Given the description of an element on the screen output the (x, y) to click on. 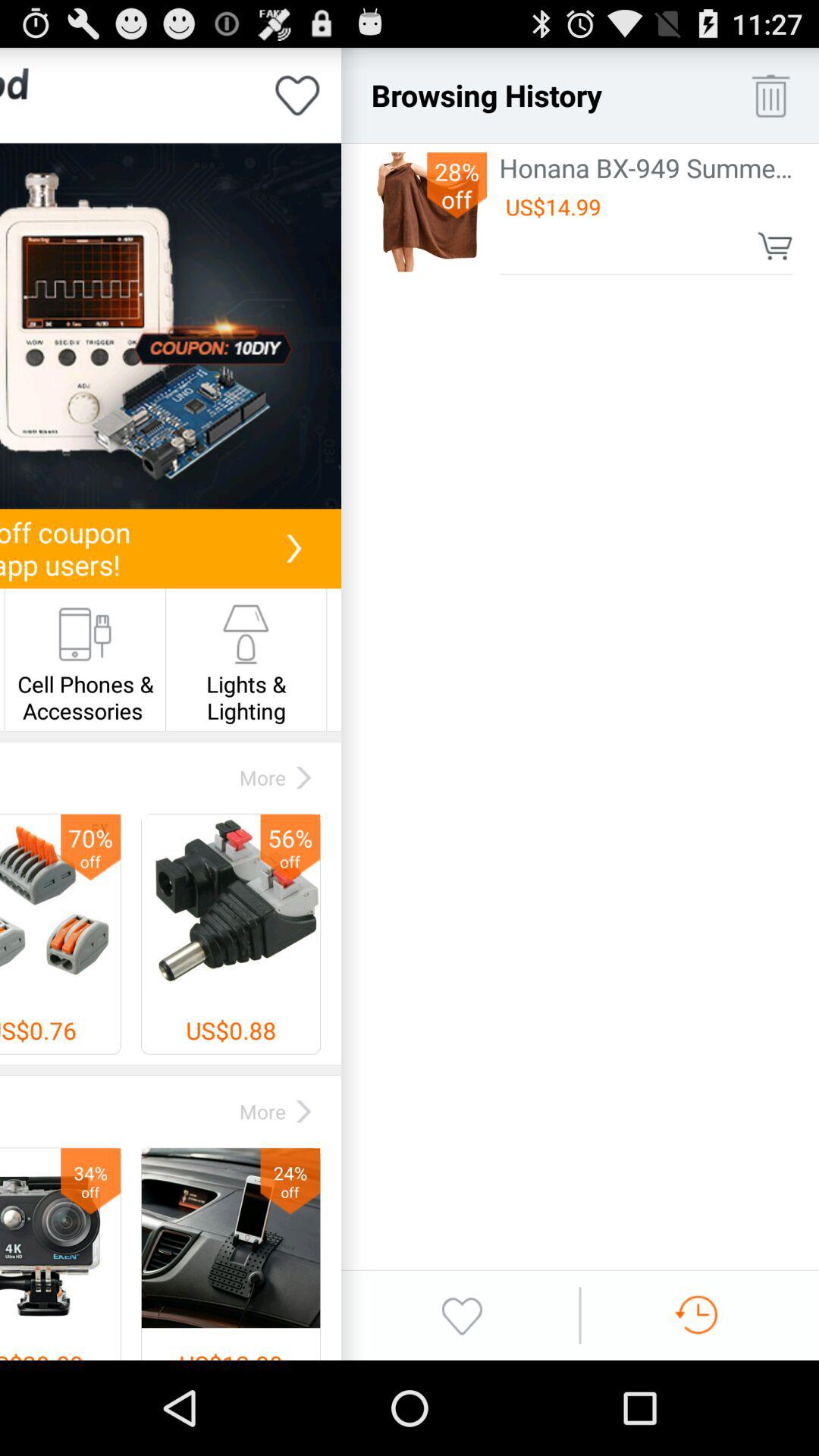
open item above the join us will icon (170, 326)
